Given the description of an element on the screen output the (x, y) to click on. 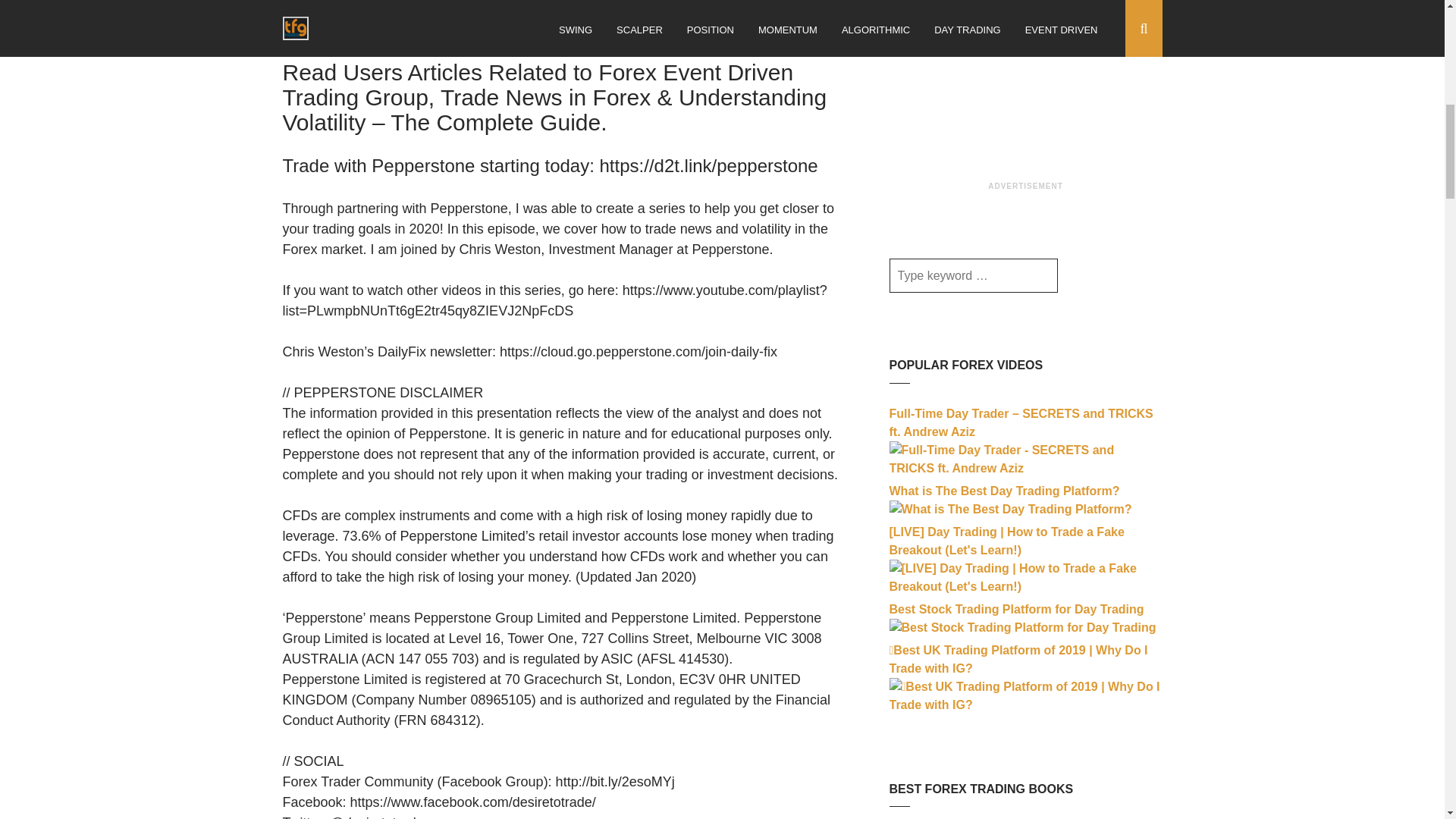
Full-Time Day Trader - SECRETS and TRICKS ft. Andrew Aziz (1024, 468)
Best Stock Trading Platform for Day Trading (1022, 626)
Search for: (972, 275)
What is The Best Day Trading Platform? (1009, 508)
